Given the description of an element on the screen output the (x, y) to click on. 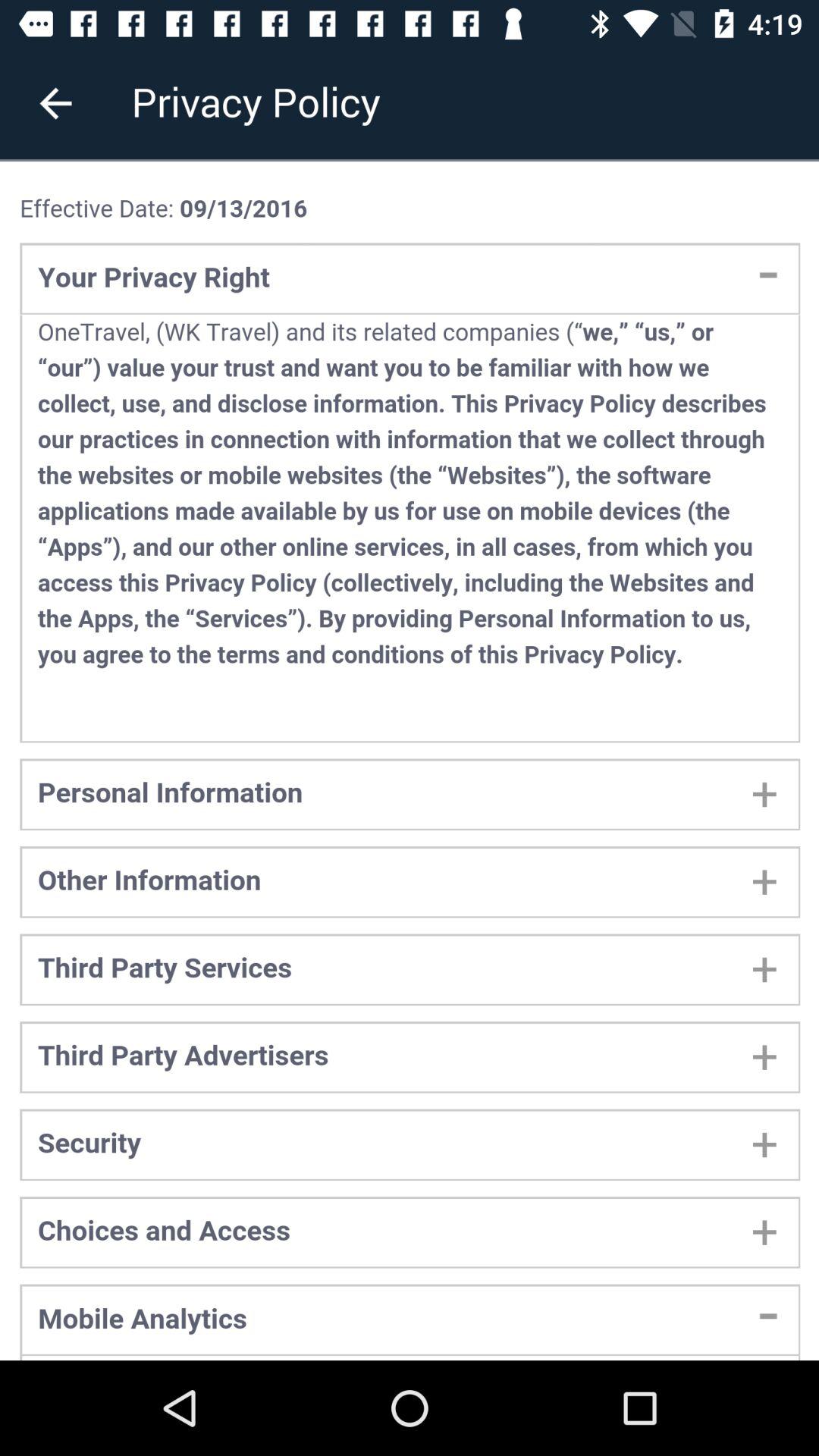
adding information (409, 760)
